Given the description of an element on the screen output the (x, y) to click on. 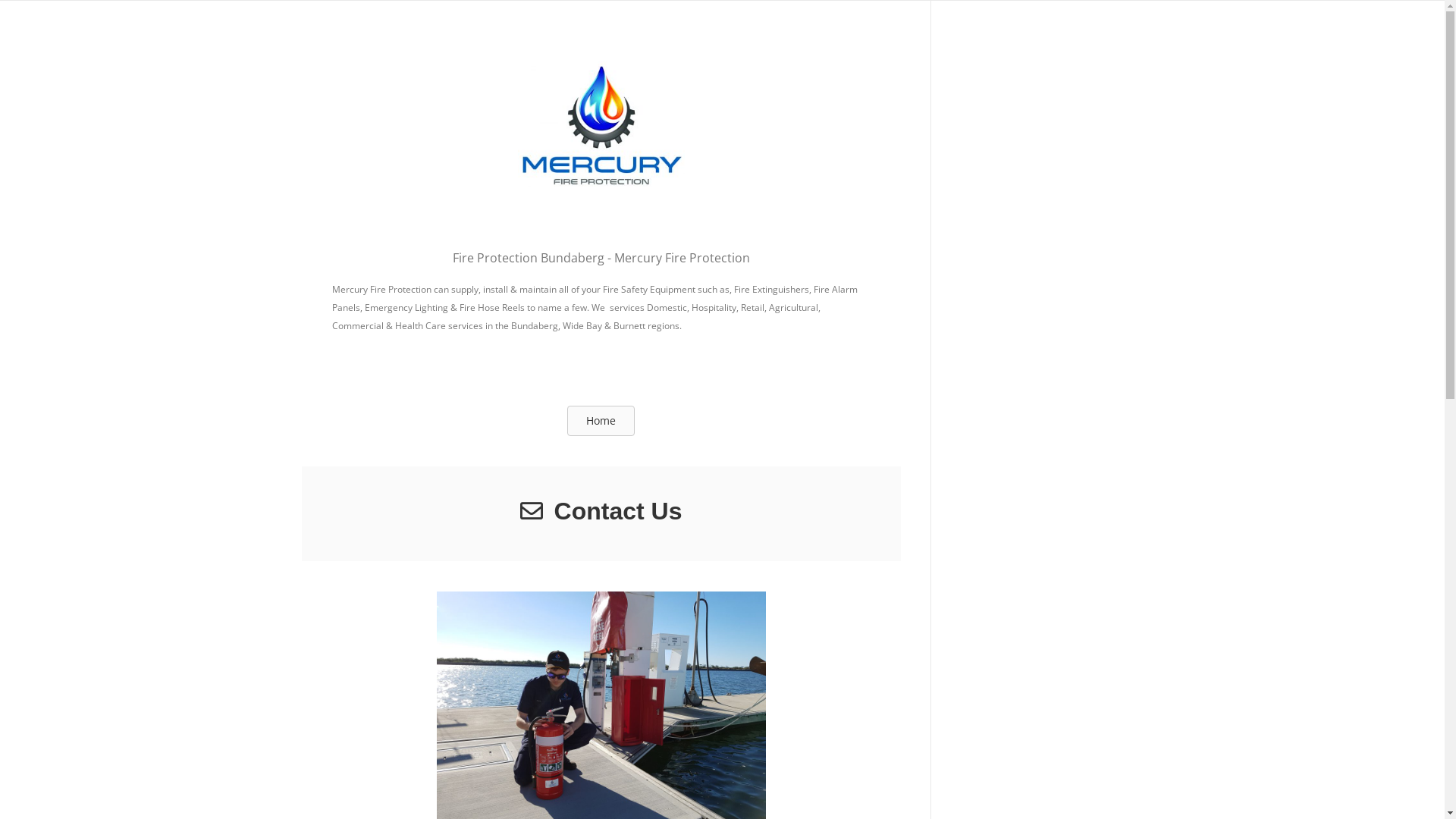
Mercury Fire Protection Element type: hover (600, 124)
Home Element type: text (600, 420)
